Given the description of an element on the screen output the (x, y) to click on. 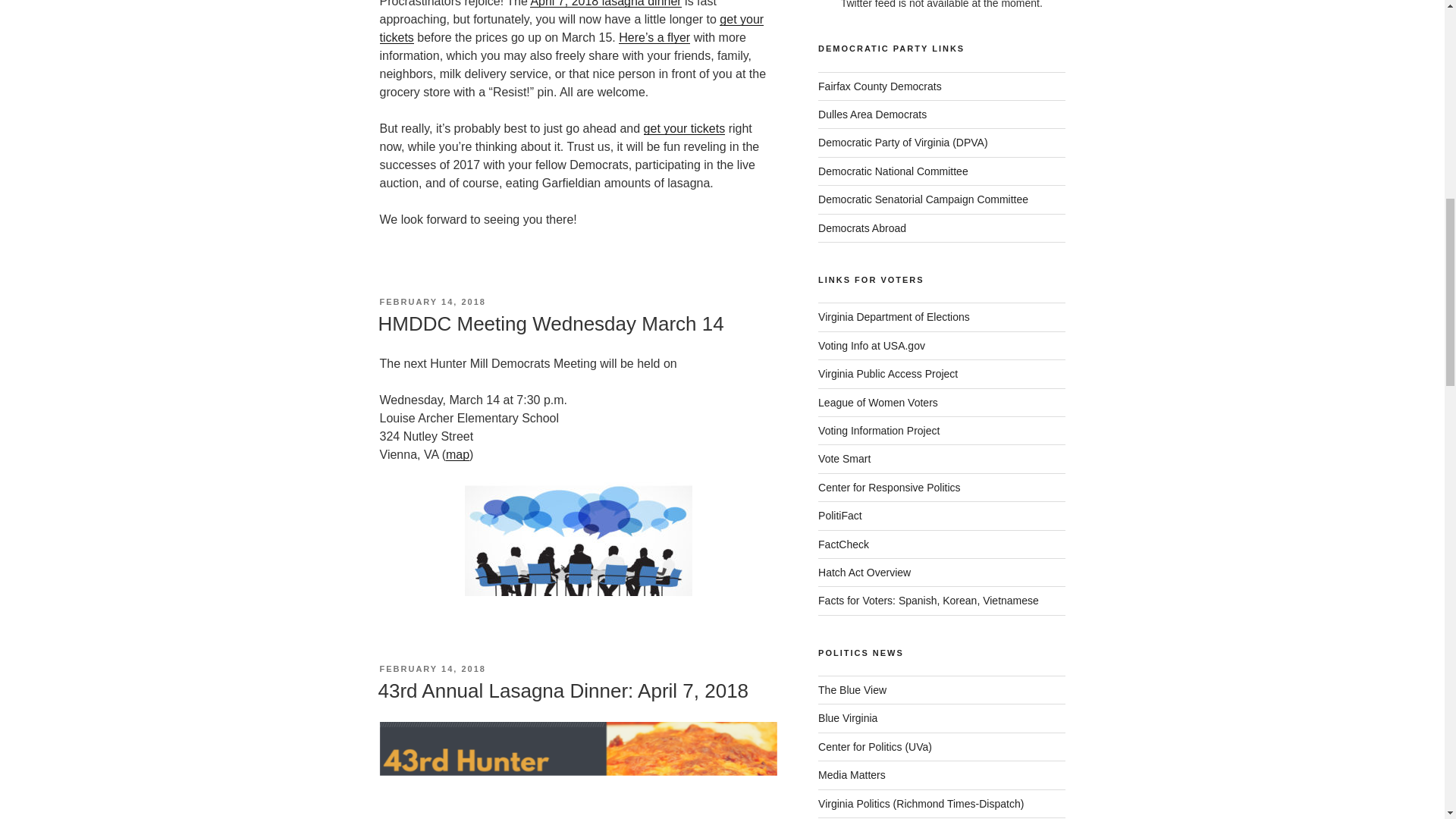
FEBRUARY 14, 2018 (431, 668)
HMDDC Meeting Wednesday March 14 (550, 323)
April 7, 2018 lasagna dinner (605, 3)
get your tickets (570, 28)
get your tickets (684, 128)
FEBRUARY 14, 2018 (431, 301)
43rd Annual Lasagna Dinner: April 7, 2018 (562, 690)
map (456, 454)
